Given the description of an element on the screen output the (x, y) to click on. 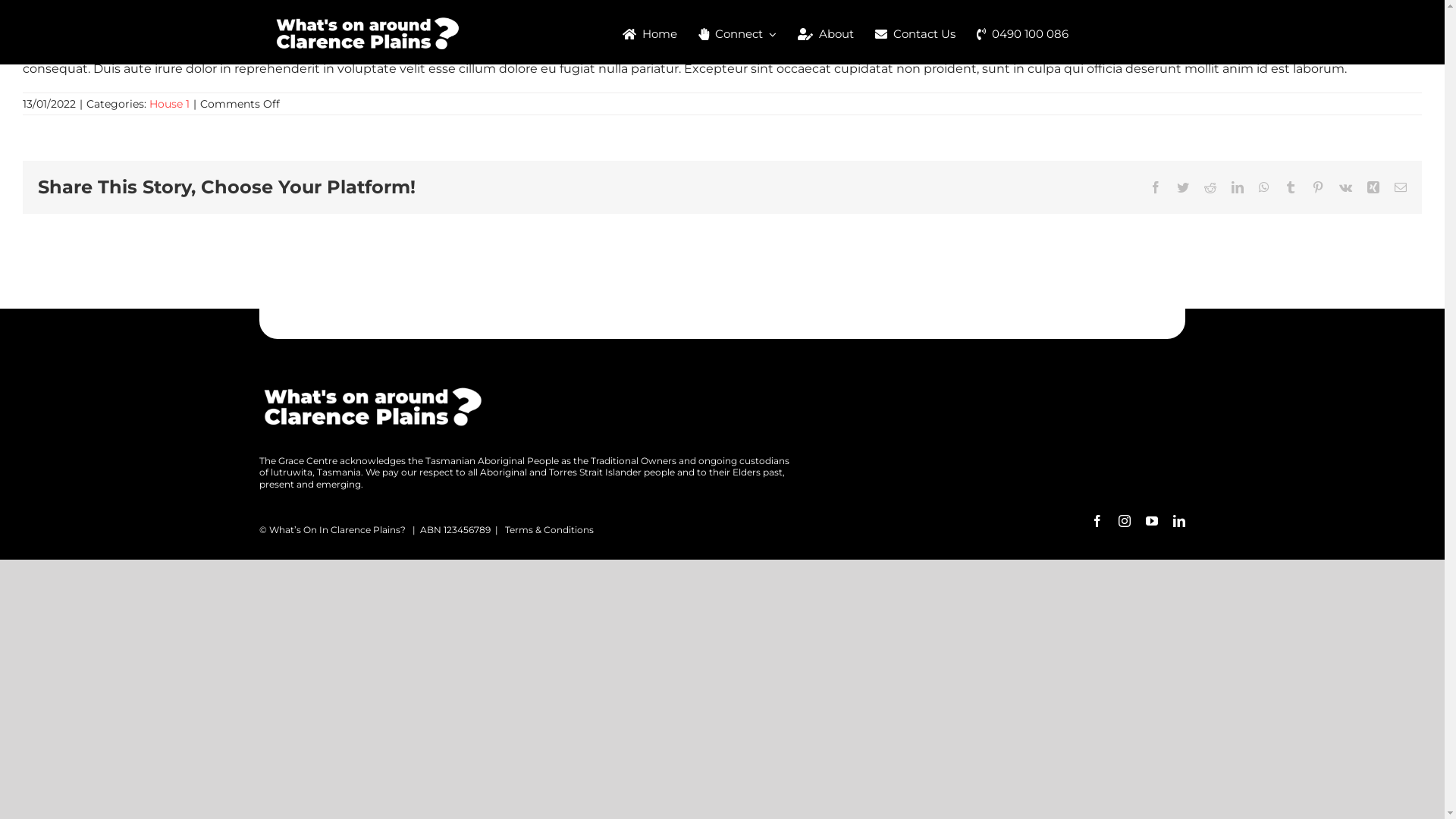
Reddit Element type: text (1210, 187)
Xing Element type: text (1373, 187)
LinkedIn Element type: text (1237, 187)
House 1 Element type: text (169, 103)
Tumblr Element type: text (1290, 187)
Email Element type: text (1400, 187)
WhatsApp Element type: text (1263, 187)
Home Element type: text (646, 33)
0490 100 086 Element type: text (1019, 33)
Twitter Element type: text (1182, 187)
Contact Us Element type: text (912, 33)
Facebook Element type: text (1155, 187)
Connect Element type: text (734, 33)
Pinterest Element type: text (1317, 187)
Vk Element type: text (1345, 187)
About Element type: text (822, 33)
